Given the description of an element on the screen output the (x, y) to click on. 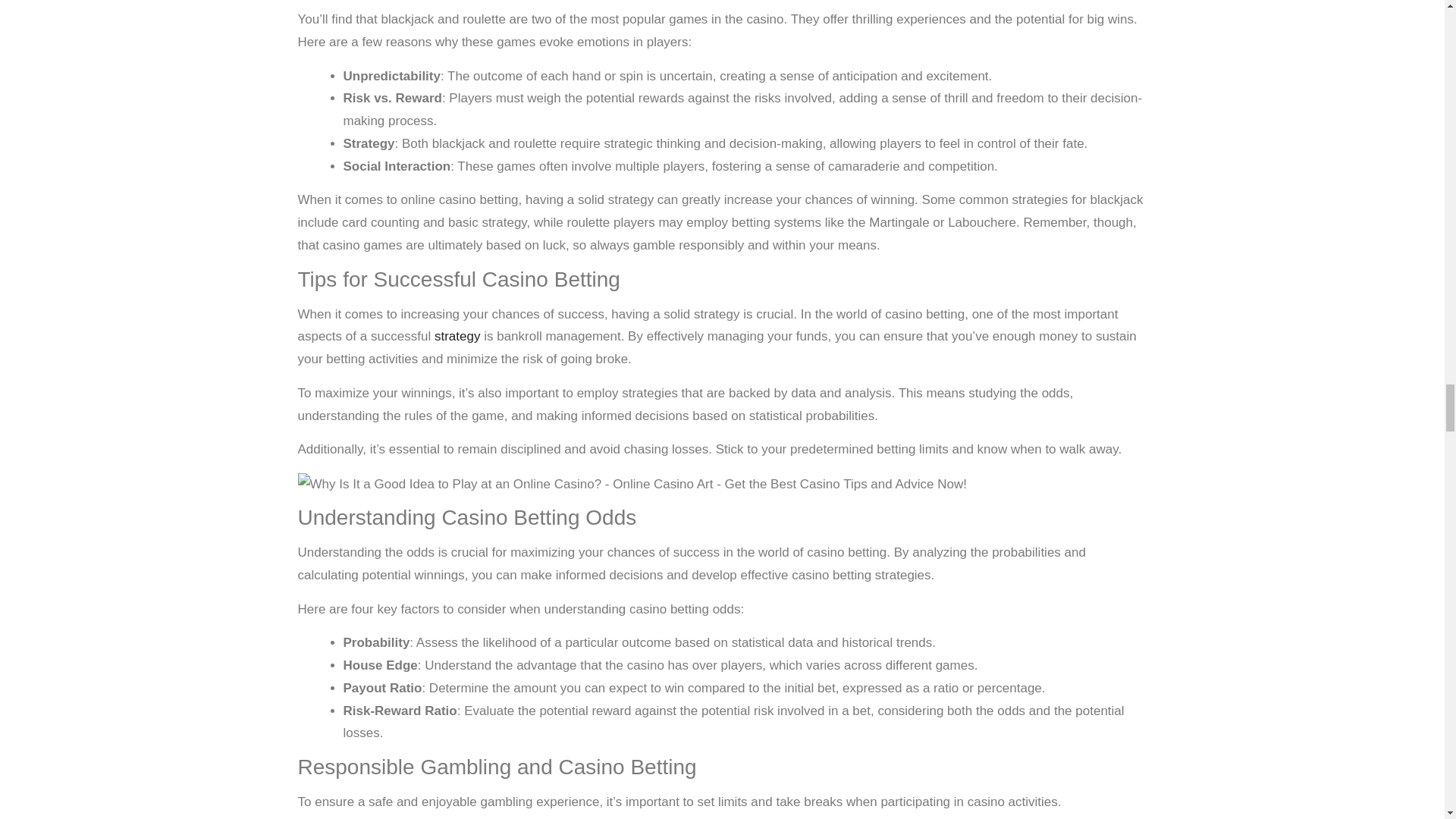
strategy (456, 336)
